Given the description of an element on the screen output the (x, y) to click on. 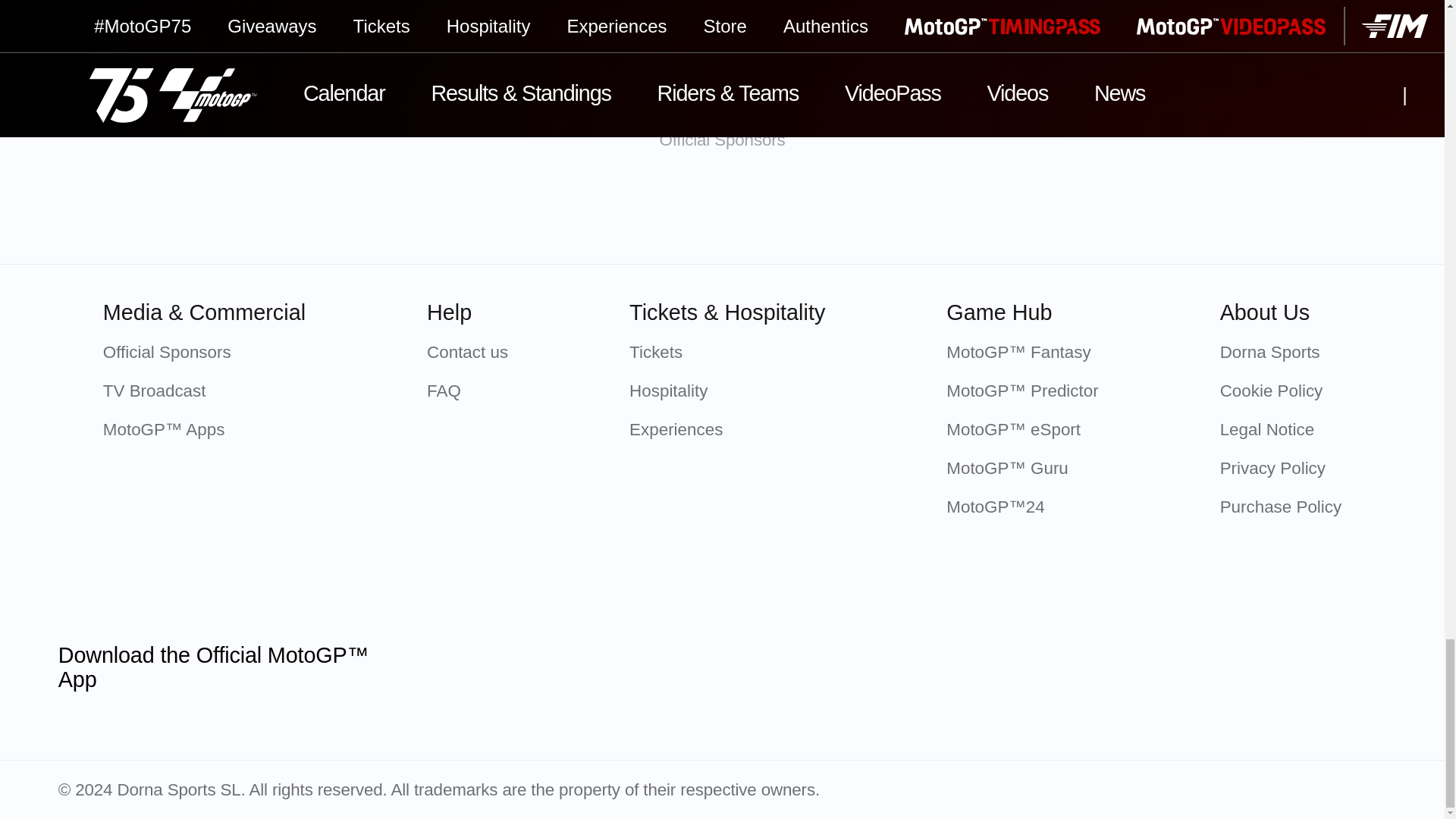
DHL (1122, 211)
QATAR (321, 211)
BMW M (802, 211)
App Store (465, 667)
ESTRELLA GALICIA (962, 211)
TISSOT (481, 211)
MICHELIN (642, 211)
